Given the description of an element on the screen output the (x, y) to click on. 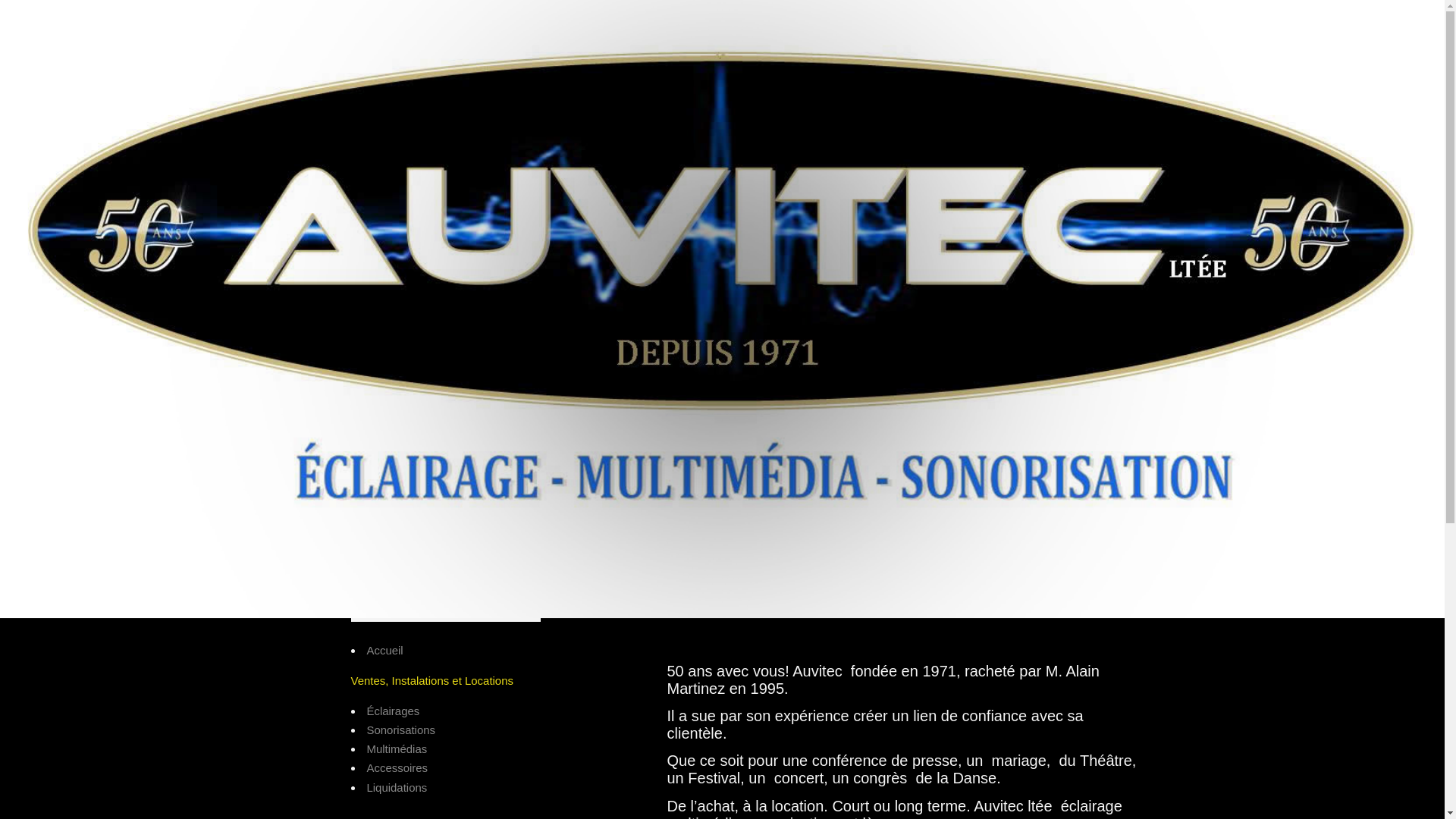
Liquidations Element type: text (396, 787)
Sonorisations Element type: text (400, 729)
Accessoires Element type: text (396, 767)
Accueil Element type: text (384, 649)
